Given the description of an element on the screen output the (x, y) to click on. 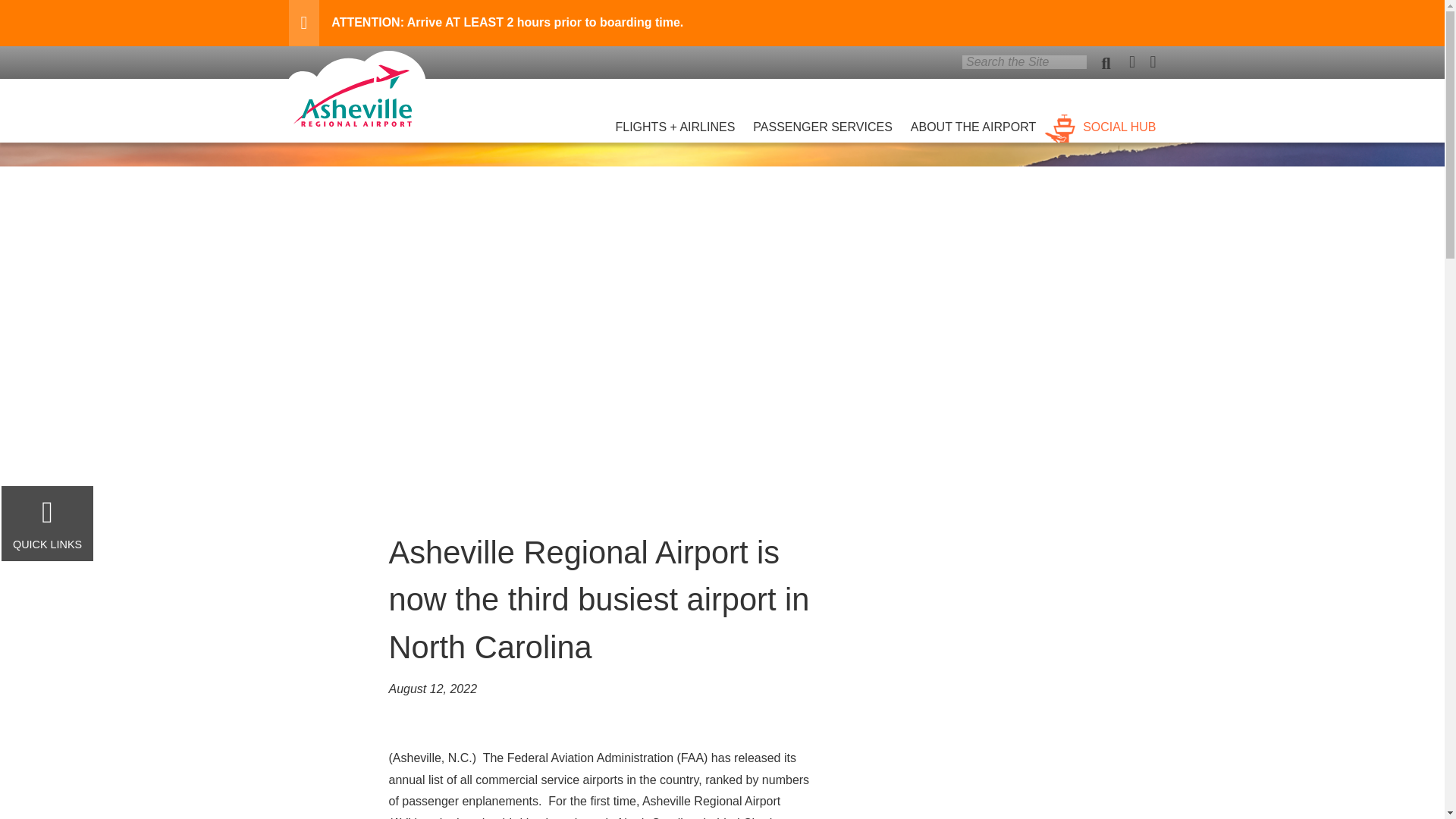
SOCIAL HUB (1100, 118)
Enter the terms you wish to search for. (1024, 61)
ABOUT THE AIRPORT (973, 118)
PASSENGER SERVICES (822, 118)
Home (356, 122)
